Given the description of an element on the screen output the (x, y) to click on. 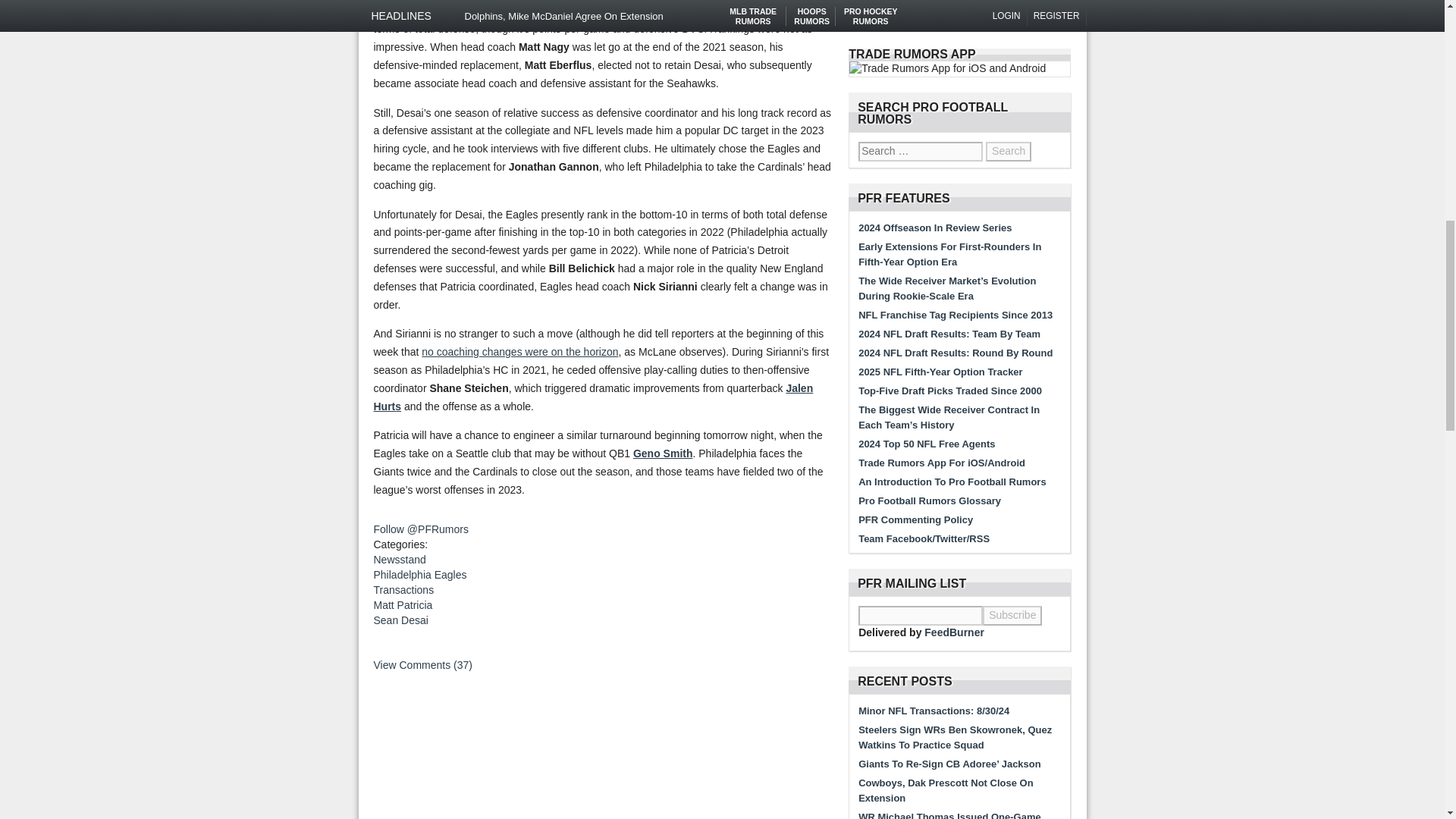
View all posts in Matt Patricia (402, 604)
Search (1007, 151)
View all posts in Sean Desai (400, 620)
Search for: (920, 151)
View all posts in Newsstand (398, 559)
Subscribe (1012, 615)
View all posts in Philadelphia Eagles (418, 574)
View all posts in Transactions (402, 589)
